Given the description of an element on the screen output the (x, y) to click on. 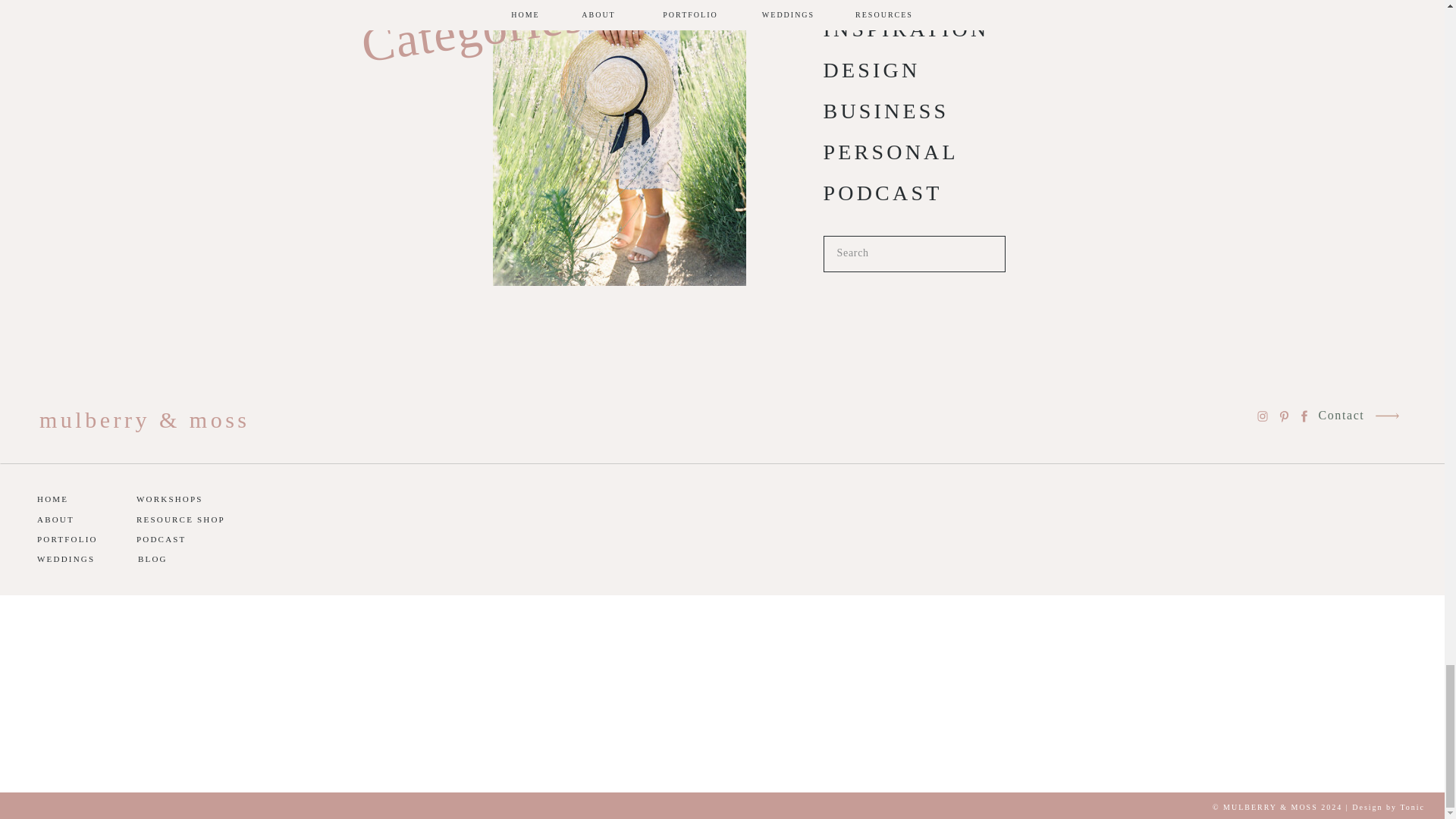
arrow (1386, 415)
